Given the description of an element on the screen output the (x, y) to click on. 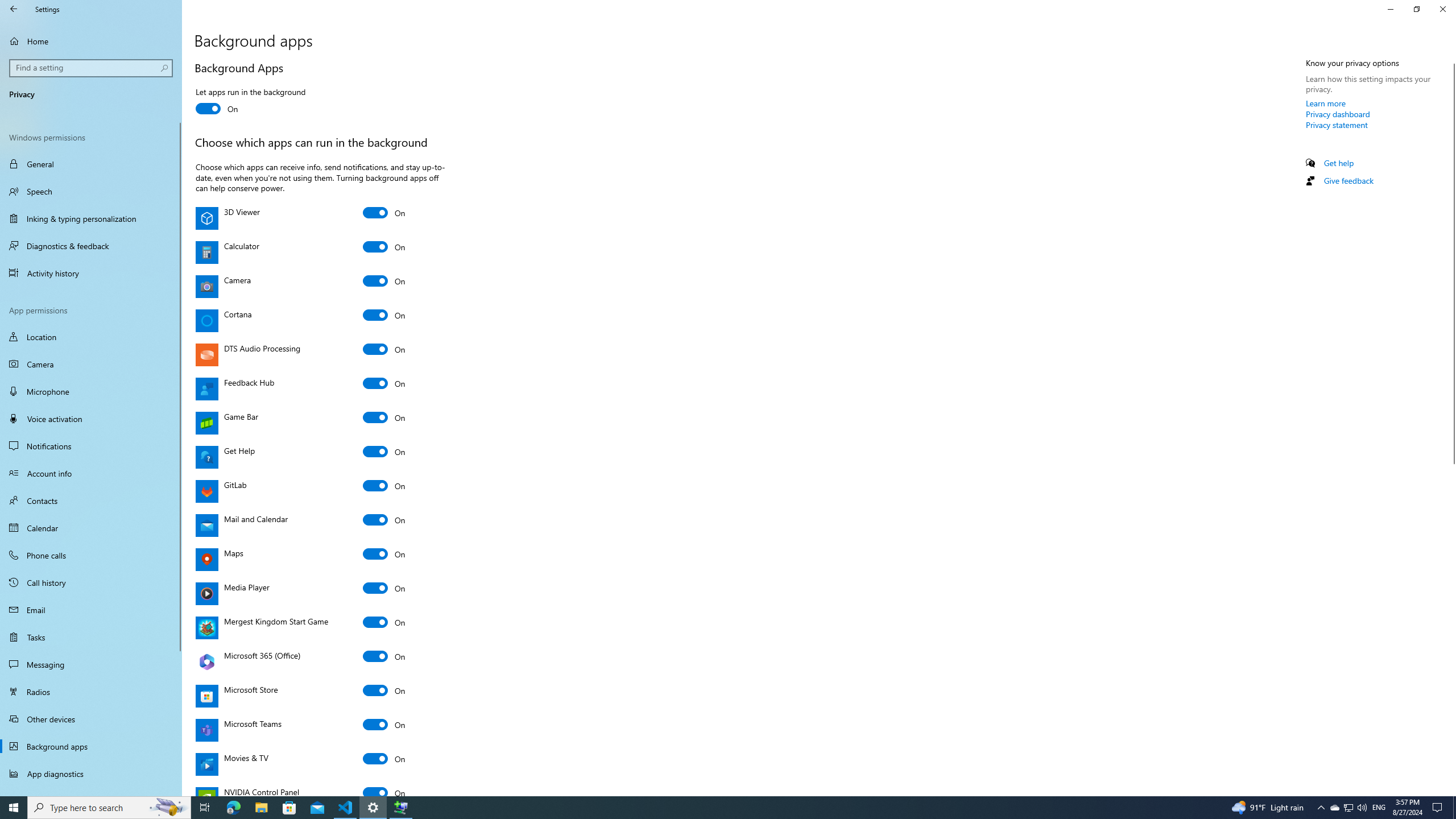
App diagnostics (91, 773)
Maps (384, 553)
Extensible Wizards Host Process - 1 running window (400, 807)
Microsoft Teams (384, 724)
Voice activation (91, 418)
Task View (204, 807)
Action Center, No new notifications (1439, 807)
Speech (91, 190)
Vertical (1451, 425)
Learn more (1326, 102)
Location (91, 336)
Feedback Hub (384, 383)
Minimize Settings (1390, 9)
NVIDIA Control Panel (384, 789)
Activity history (91, 272)
